Given the description of an element on the screen output the (x, y) to click on. 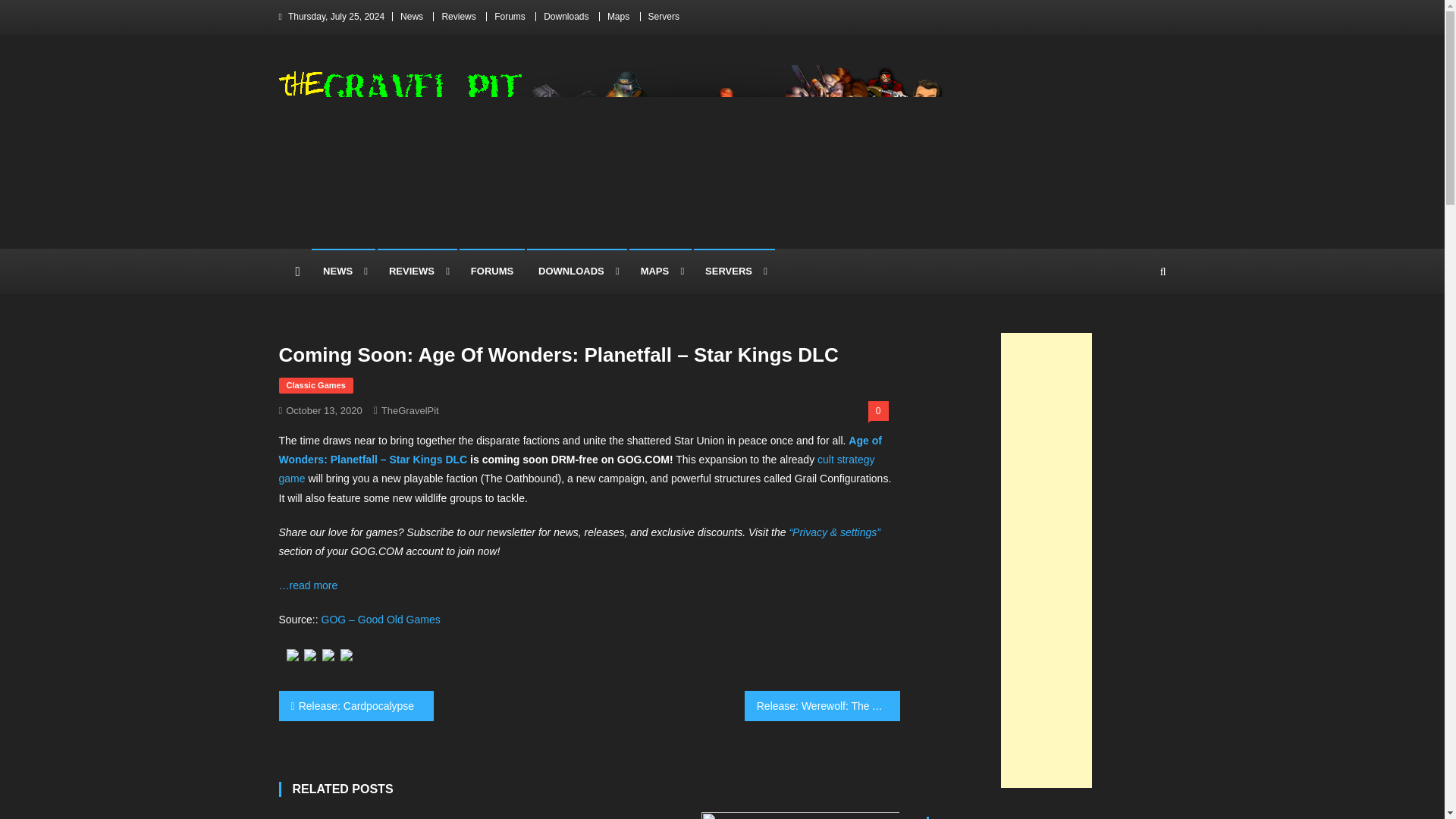
Reviews (458, 16)
Coming soon: Age of Wonders: Planetfall - Star Kings DLC (381, 619)
Servers (663, 16)
Maps (617, 16)
Forums (510, 16)
Downloads (565, 16)
News (411, 16)
